Given the description of an element on the screen output the (x, y) to click on. 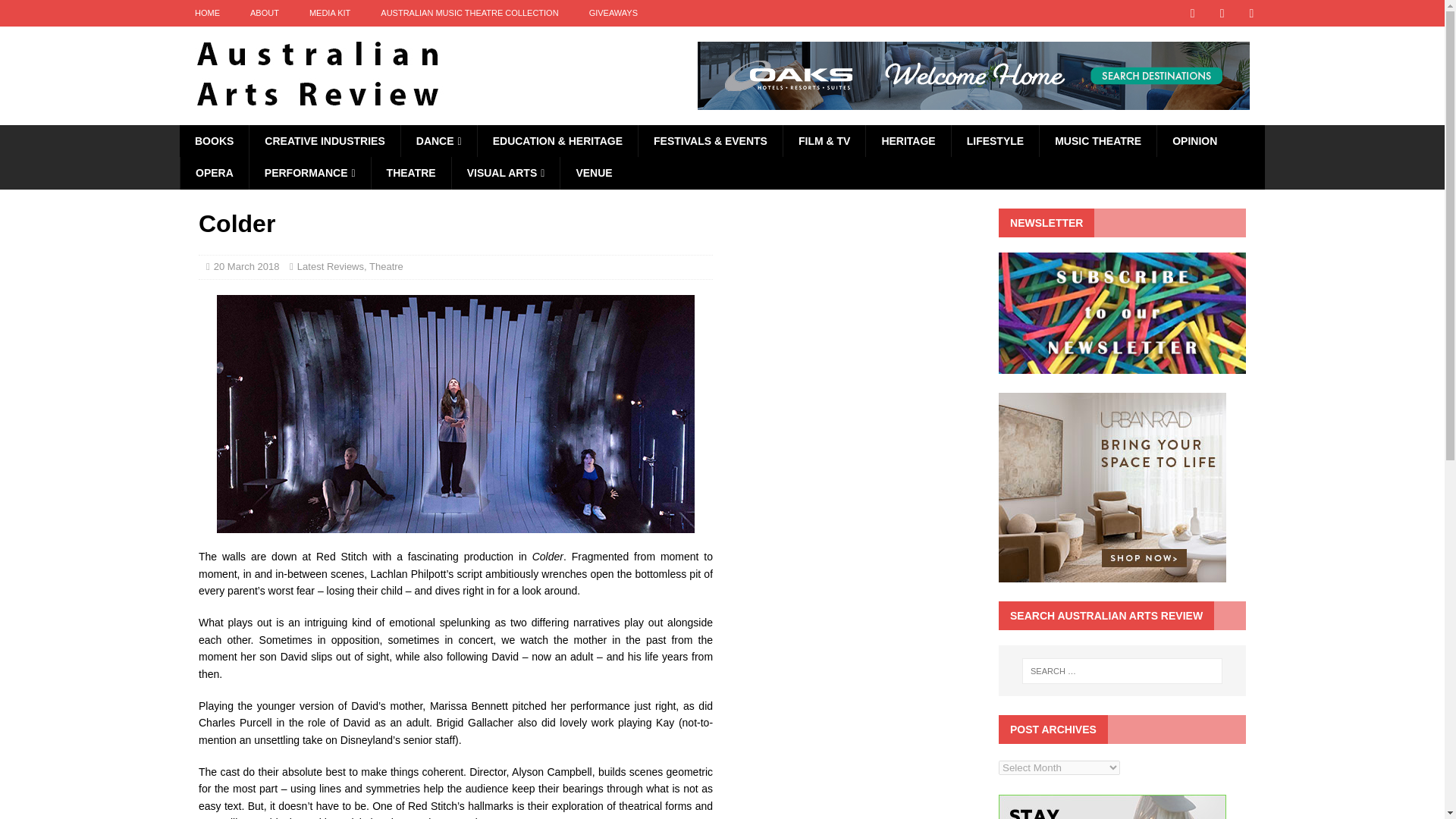
HOME (206, 13)
MEDIA KIT (329, 13)
GIVEAWAYS (612, 13)
ABOUT (264, 13)
AUSTRALIAN MUSIC THEATRE COLLECTION (469, 13)
